Given the description of an element on the screen output the (x, y) to click on. 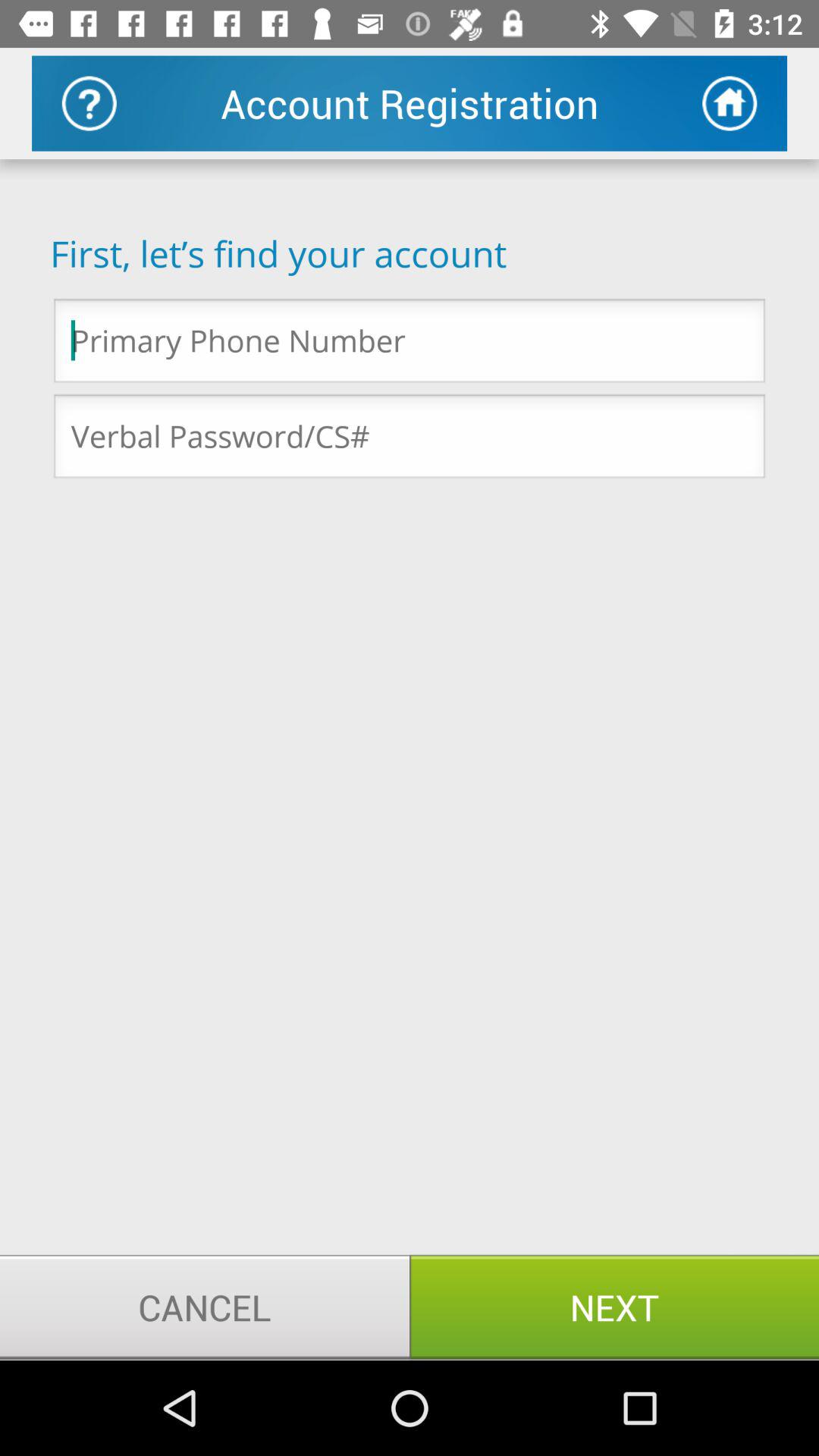
press item next to the cancel (614, 1307)
